Given the description of an element on the screen output the (x, y) to click on. 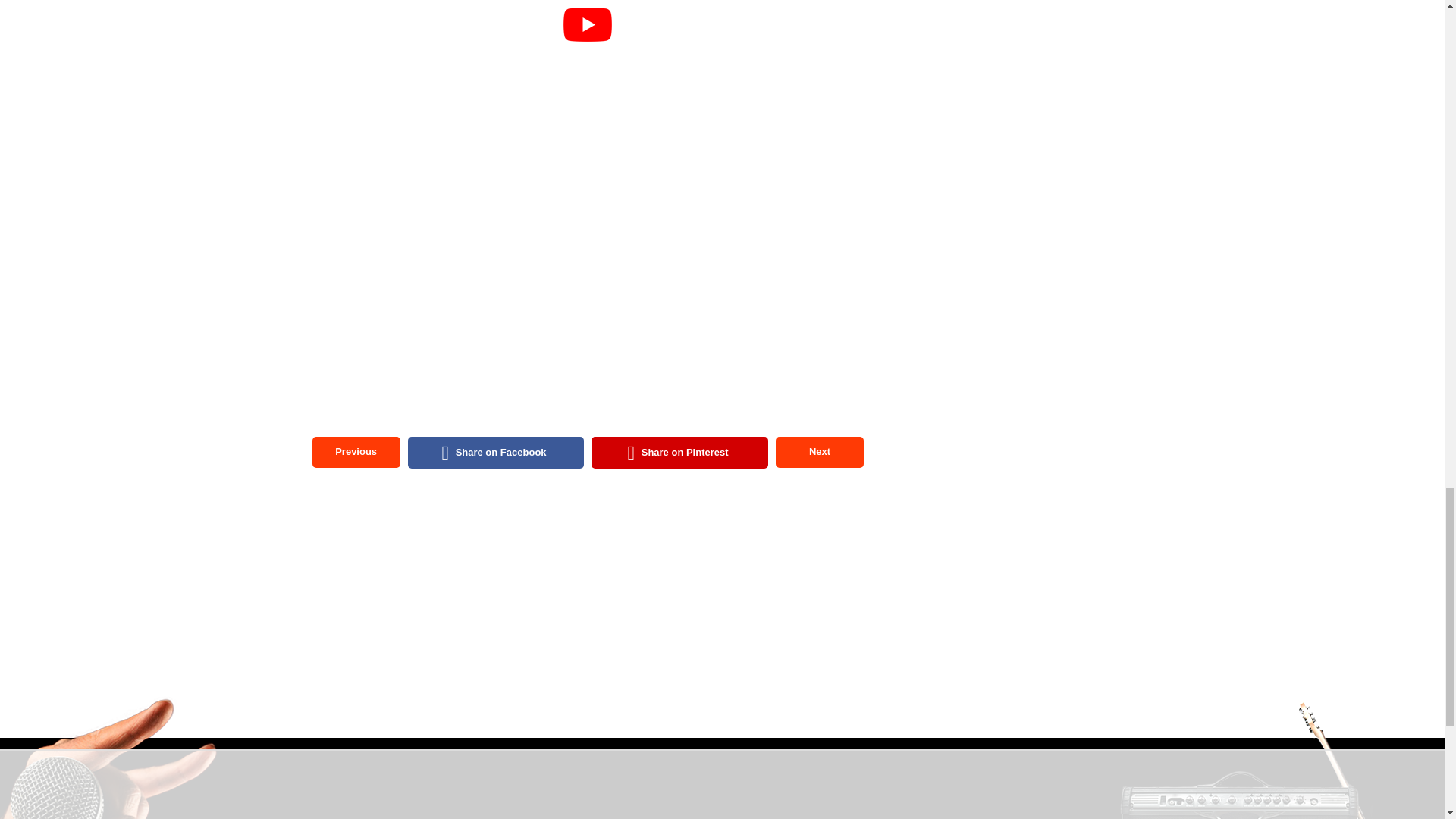
Share on Pinterest (679, 452)
